Given the description of an element on the screen output the (x, y) to click on. 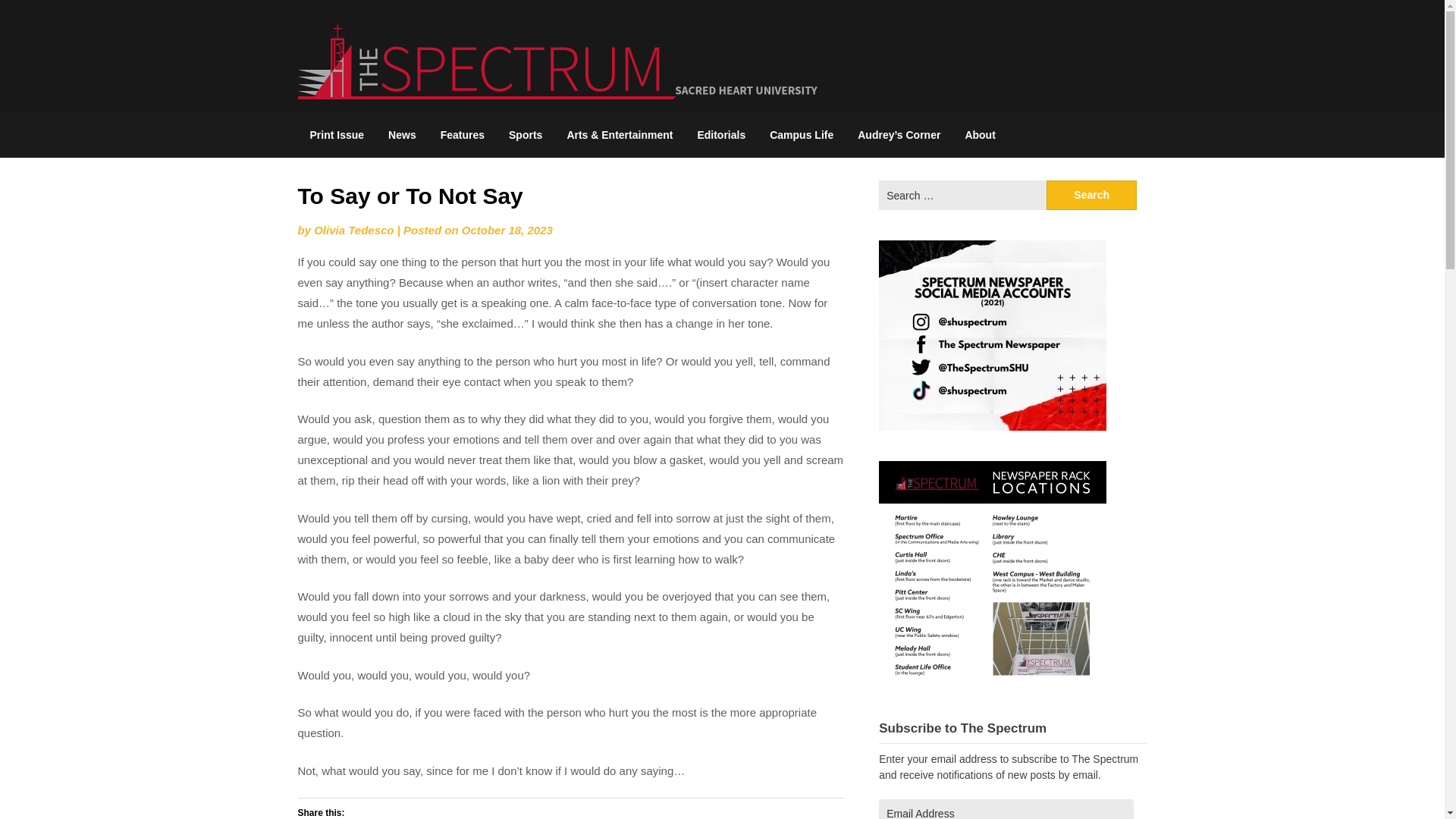
Features (462, 135)
Search (1091, 194)
Print Issue (336, 135)
Campus Life (801, 135)
October 18, 2023 (507, 229)
Sports (525, 135)
Olivia Tedesco (353, 229)
Search (1091, 194)
Search (1091, 194)
About (979, 135)
